Given the description of an element on the screen output the (x, y) to click on. 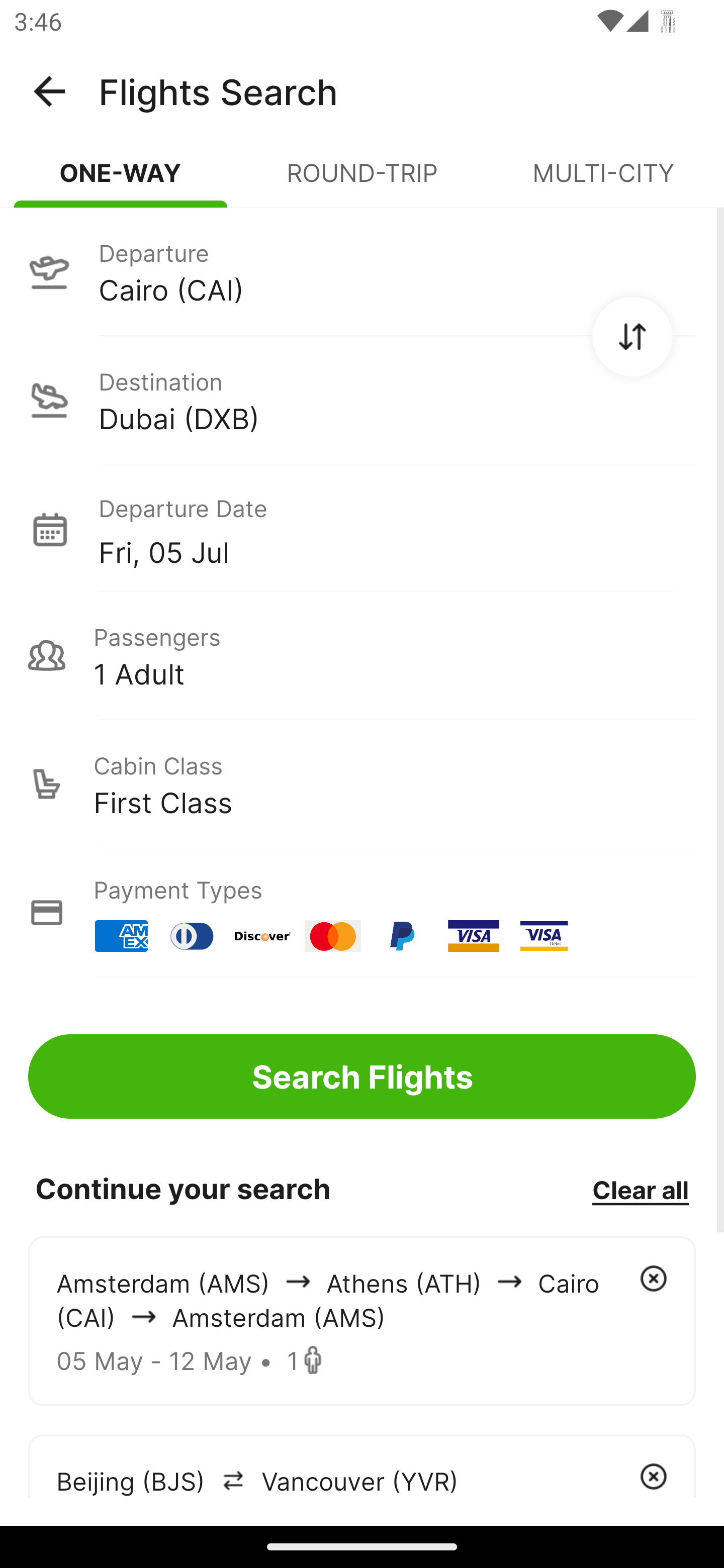
ONE-WAY (120, 180)
ROUND-TRIP (361, 180)
MULTI-CITY (603, 180)
Departure Cairo (CAI) (362, 270)
Destination Dubai (DXB) (362, 400)
Departure Date Fri, 05 Jul (396, 528)
Passengers 1 Adult (362, 655)
Cabin Class First Class (362, 783)
Payment Types (362, 912)
Search Flights (361, 1075)
Clear all (640, 1189)
Beijing (BJS)  arrowIcon  Vancouver (YVR) (361, 1465)
